Given the description of an element on the screen output the (x, y) to click on. 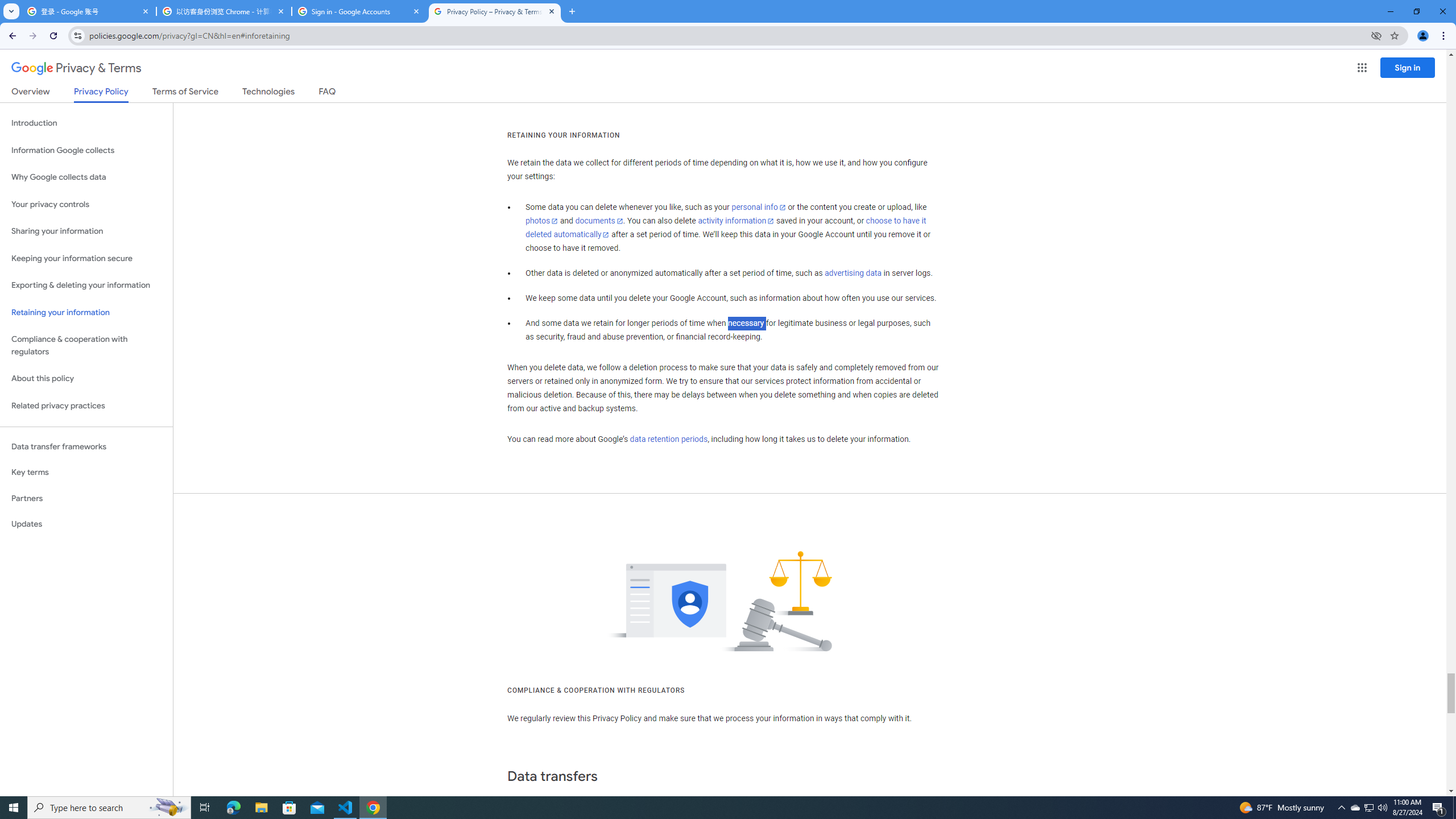
Data transfer frameworks (86, 446)
Information Google collects (86, 150)
Compliance & cooperation with regulators (86, 345)
Retaining your information (86, 312)
Partners (86, 497)
Keeping your information secure (86, 258)
